Given the description of an element on the screen output the (x, y) to click on. 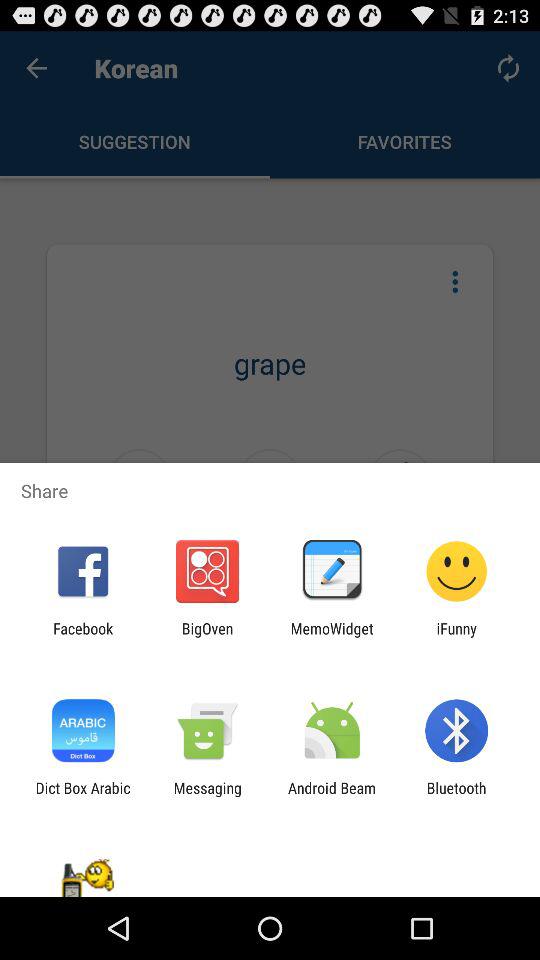
choose android beam icon (332, 796)
